Given the description of an element on the screen output the (x, y) to click on. 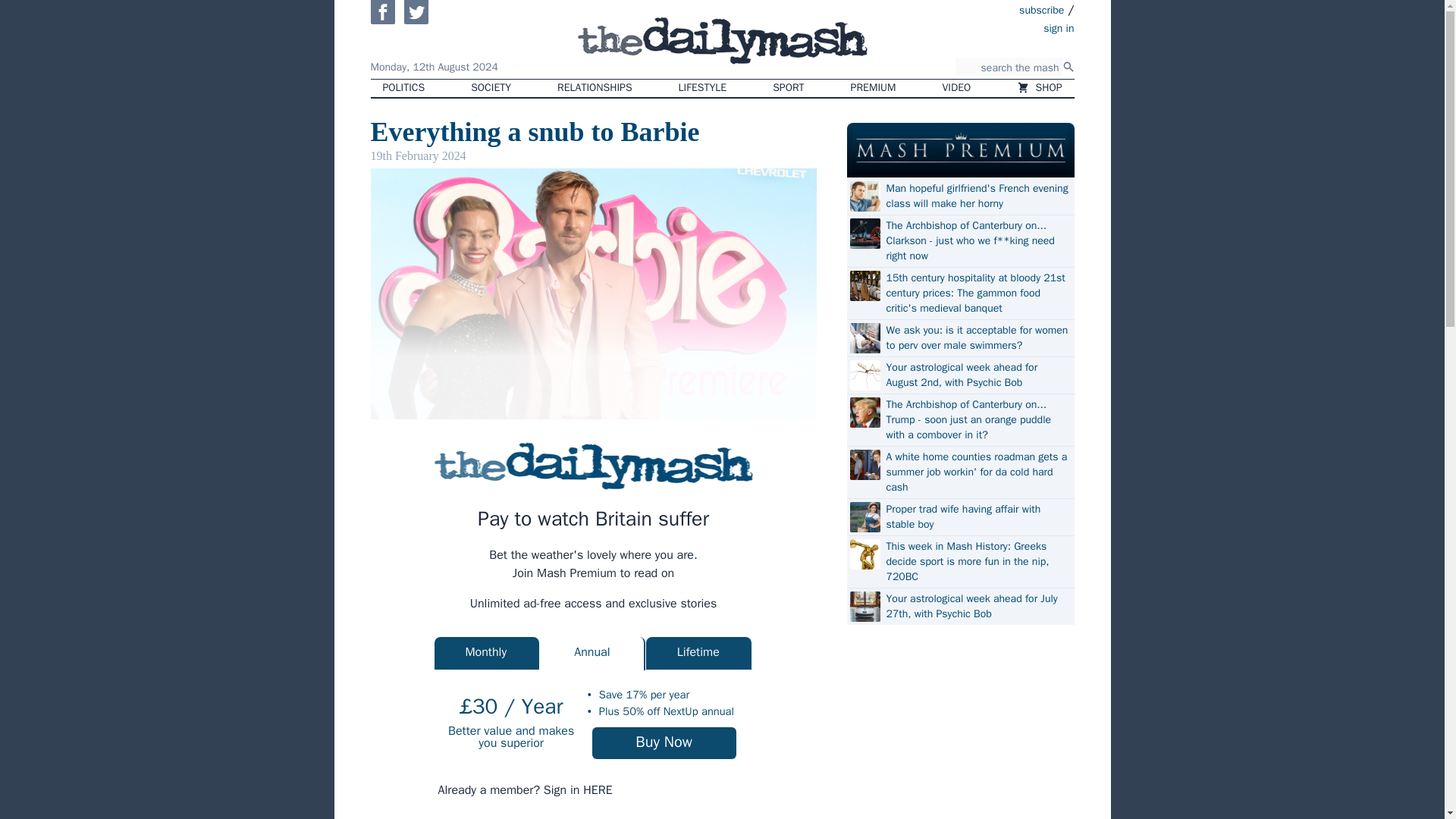
PREMIUM (873, 88)
SHOP (1039, 88)
POLITICS (402, 88)
sign in (970, 27)
SPORT (787, 88)
subscribe (1041, 9)
VIDEO (957, 88)
